Given the description of an element on the screen output the (x, y) to click on. 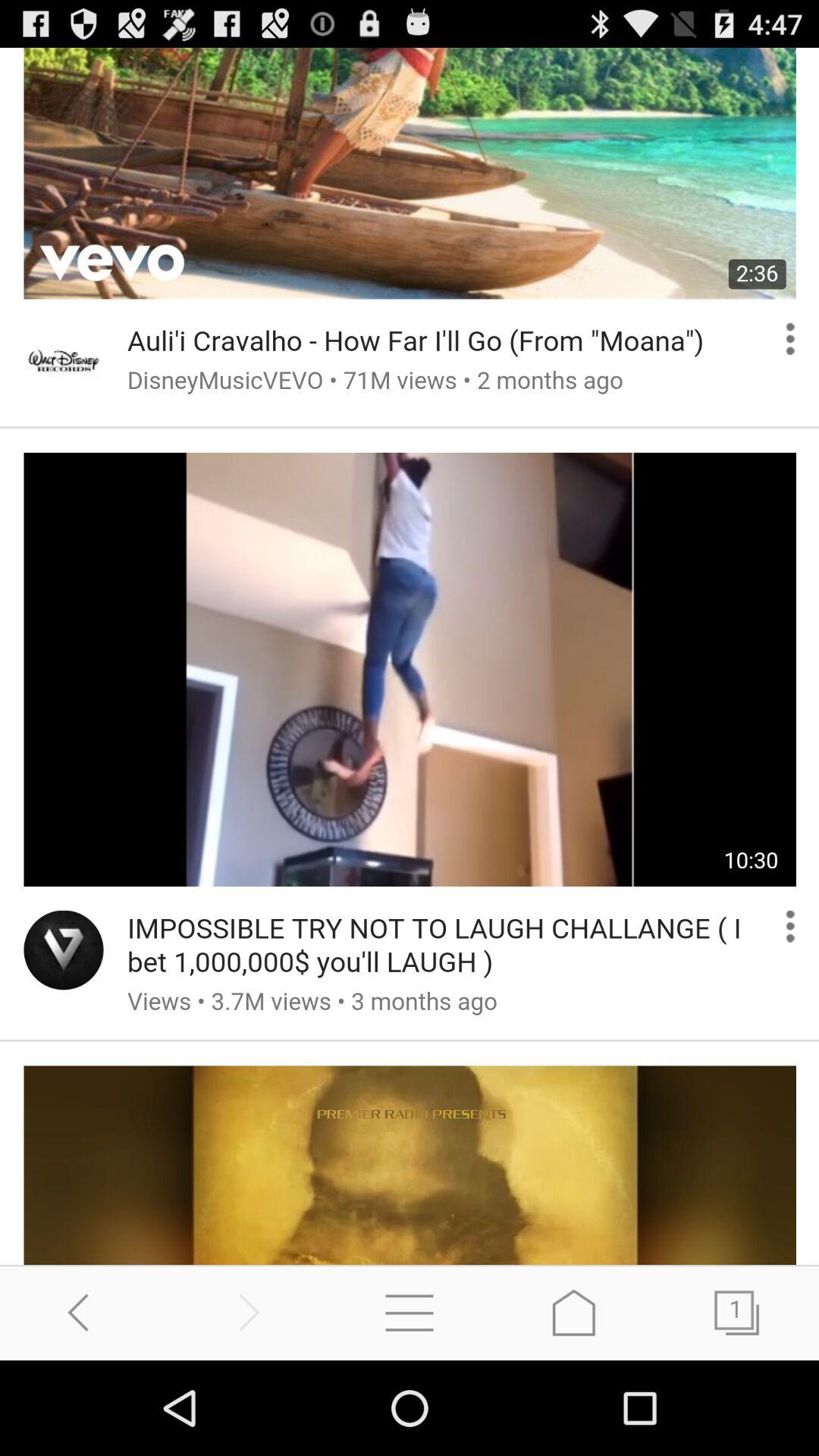
alerta para as imagnes (409, 655)
